Given the description of an element on the screen output the (x, y) to click on. 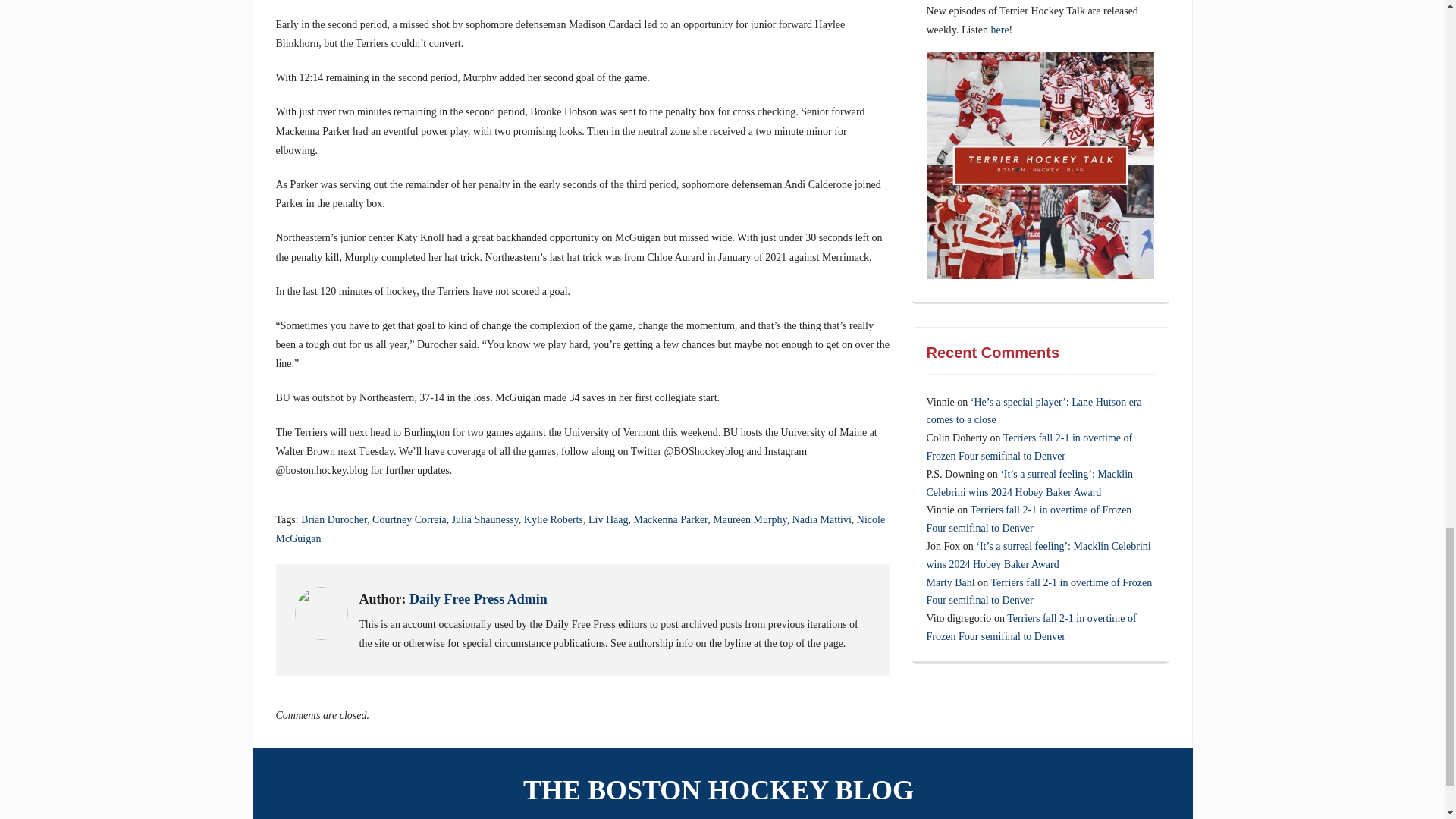
Nicole McGuigan (580, 529)
Maureen Murphy (749, 519)
Kylie Roberts (553, 519)
Mackenna Parker (670, 519)
Nadia Mattivi (821, 519)
Liv Haag (607, 519)
Daily Free Press Admin (478, 598)
Brian Durocher (333, 519)
Julia Shaunessy (484, 519)
Courtney Correia (409, 519)
